Given the description of an element on the screen output the (x, y) to click on. 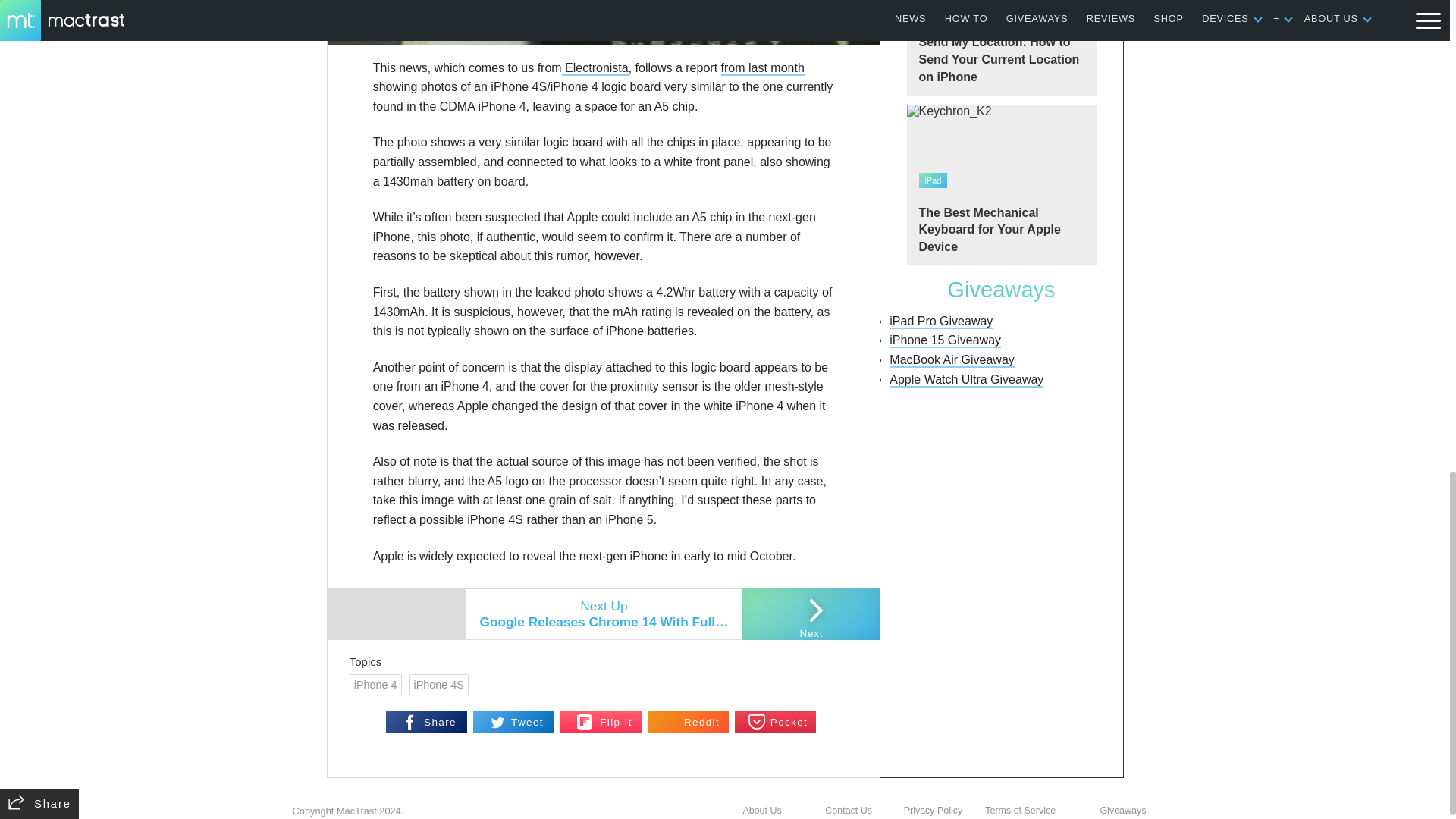
Weibo iPhone Leak (603, 22)
Share on Facebook (426, 721)
Share on Reddit (688, 721)
Tweet (513, 721)
